Given the description of an element on the screen output the (x, y) to click on. 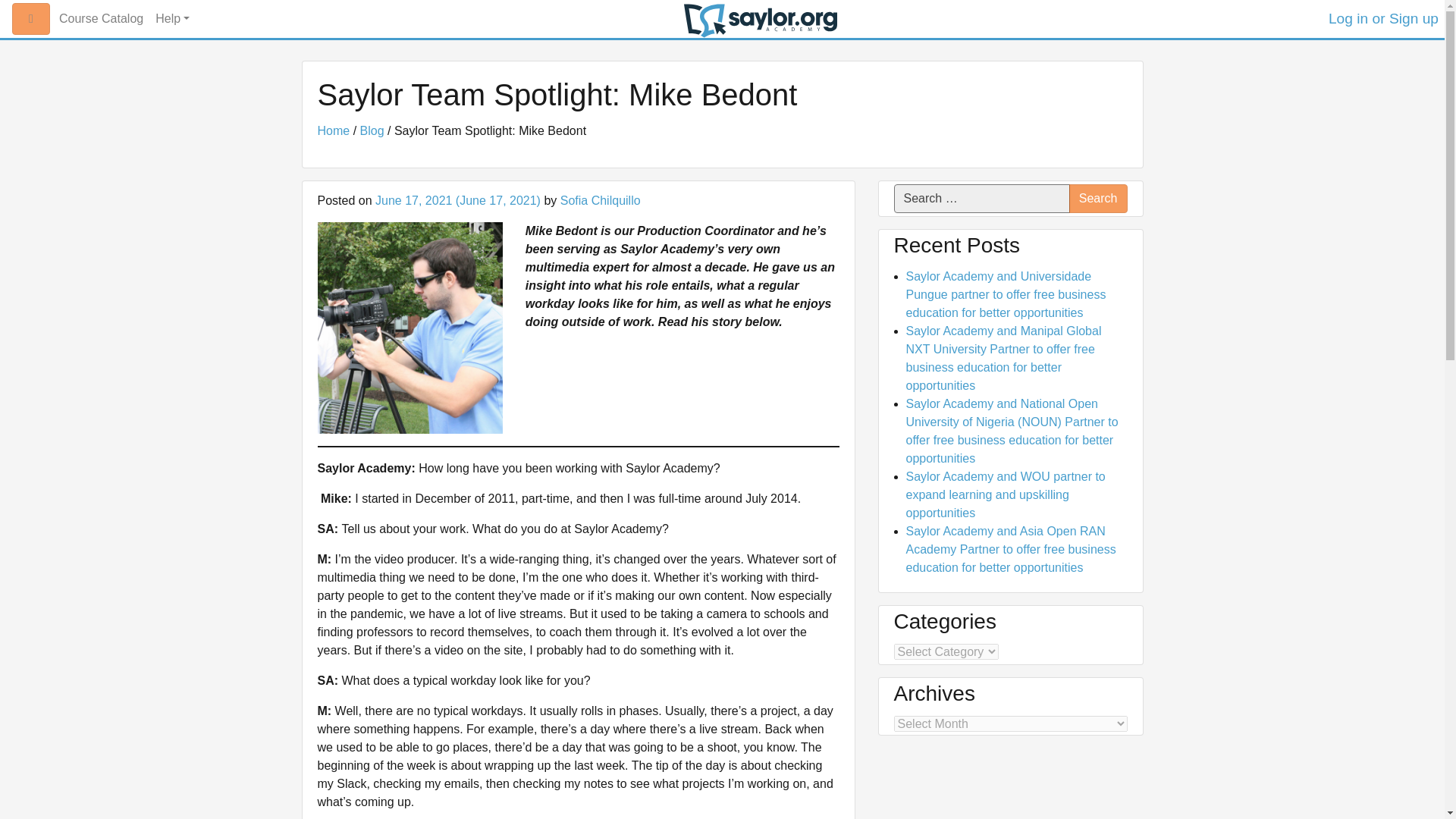
Saylor (760, 20)
Help (172, 19)
Search (1097, 198)
Search (1097, 198)
Blog (371, 130)
Course Catalog (100, 19)
Log in or Sign up (1382, 18)
Search (1097, 198)
Help (172, 19)
Sofia Chilquillo (600, 200)
Home (333, 130)
